Given the description of an element on the screen output the (x, y) to click on. 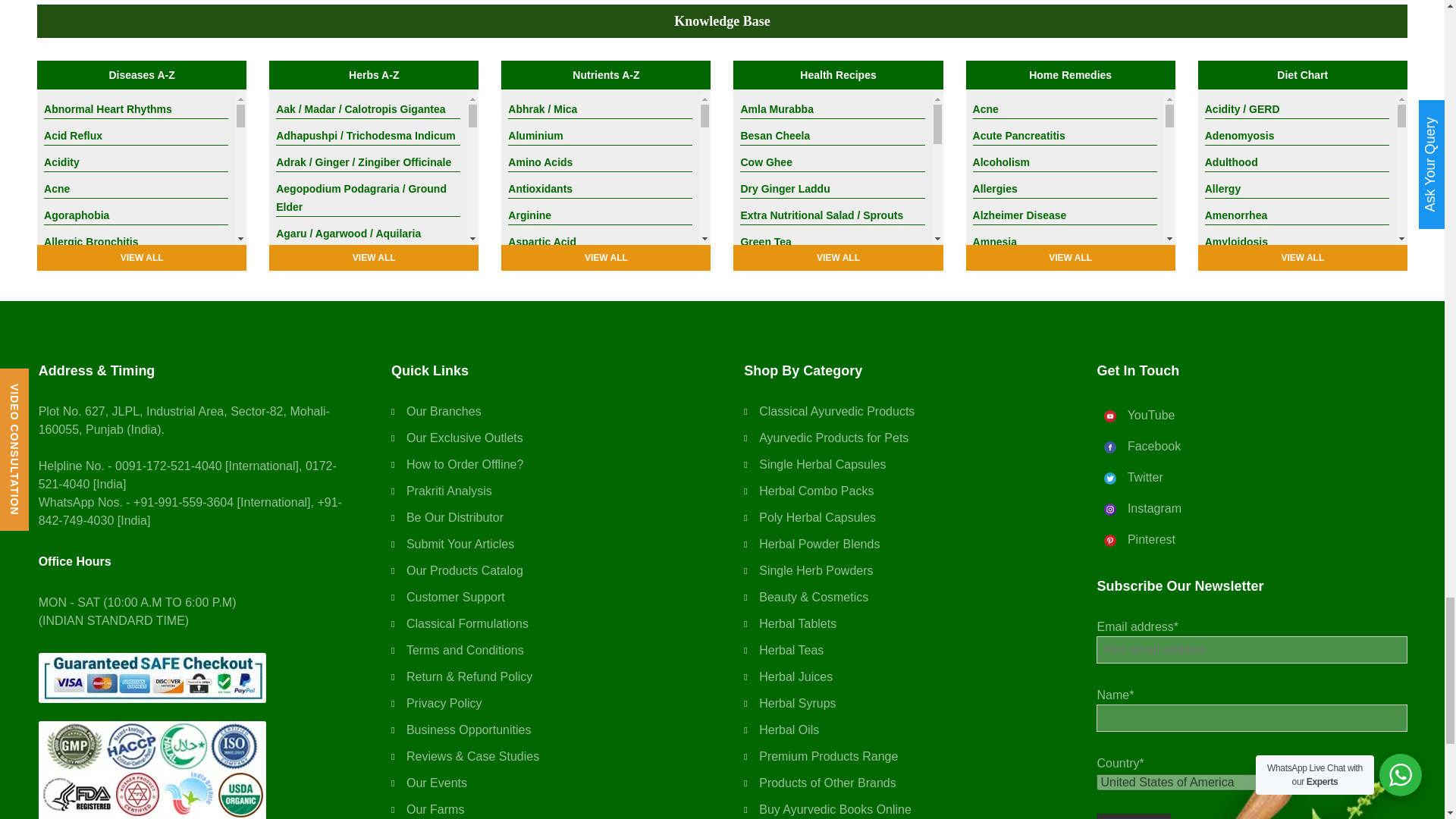
Subscribe (1133, 816)
